Given the description of an element on the screen output the (x, y) to click on. 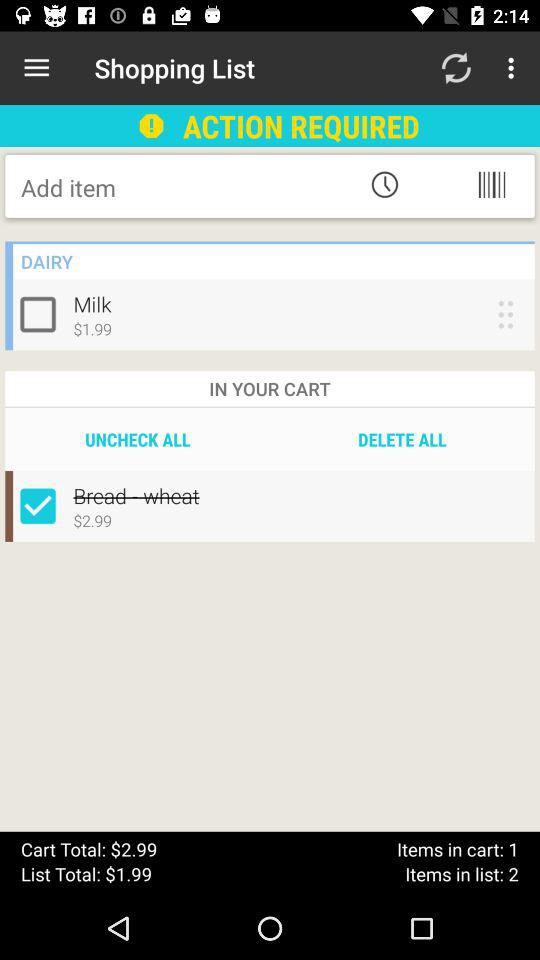
turn on the delete all icon (402, 439)
